Given the description of an element on the screen output the (x, y) to click on. 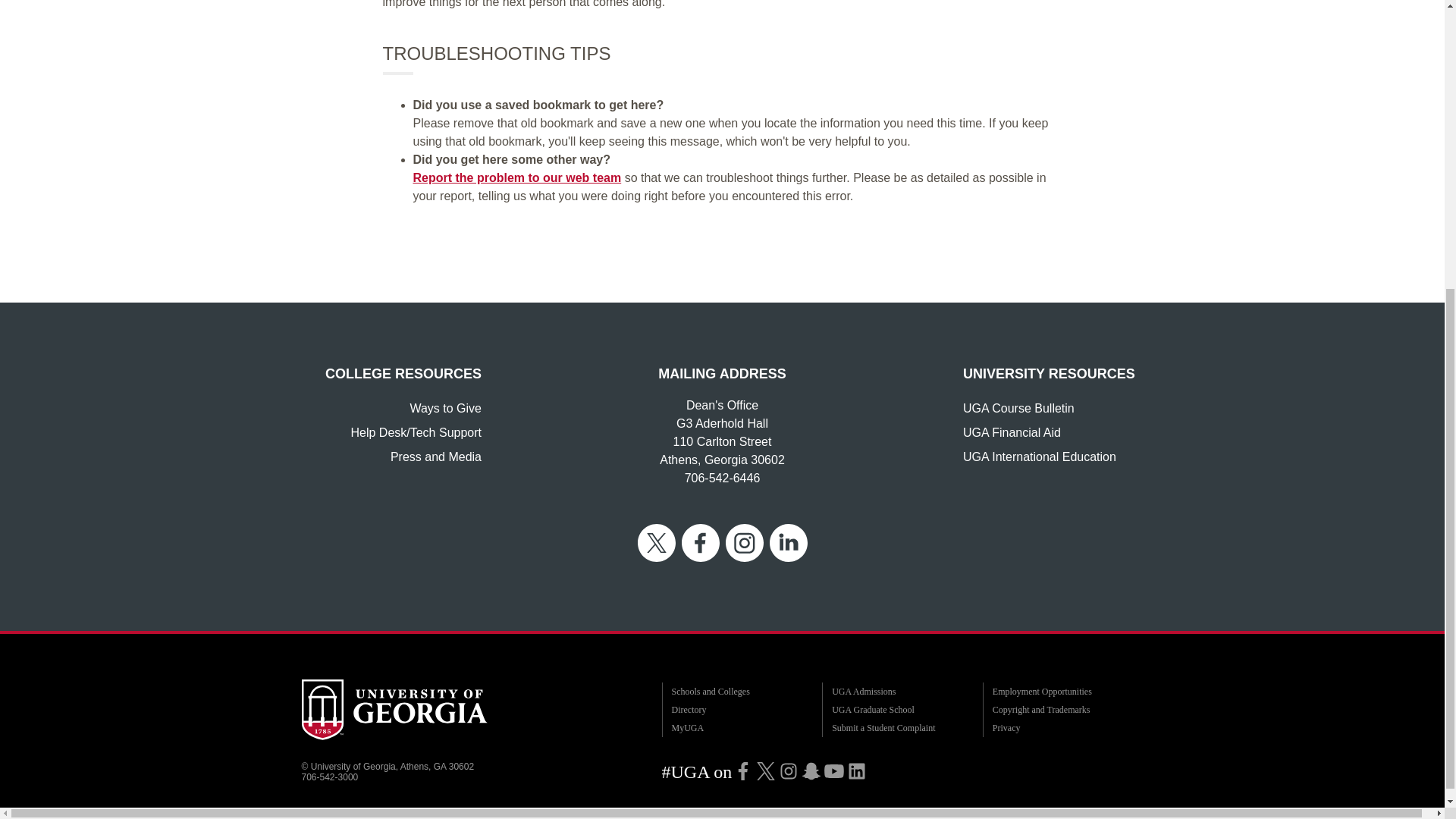
Facebook (743, 770)
YouTube (833, 770)
Twitter (765, 770)
Instagram (788, 770)
Snapchat (810, 770)
LinkedIn (856, 770)
